Given the description of an element on the screen output the (x, y) to click on. 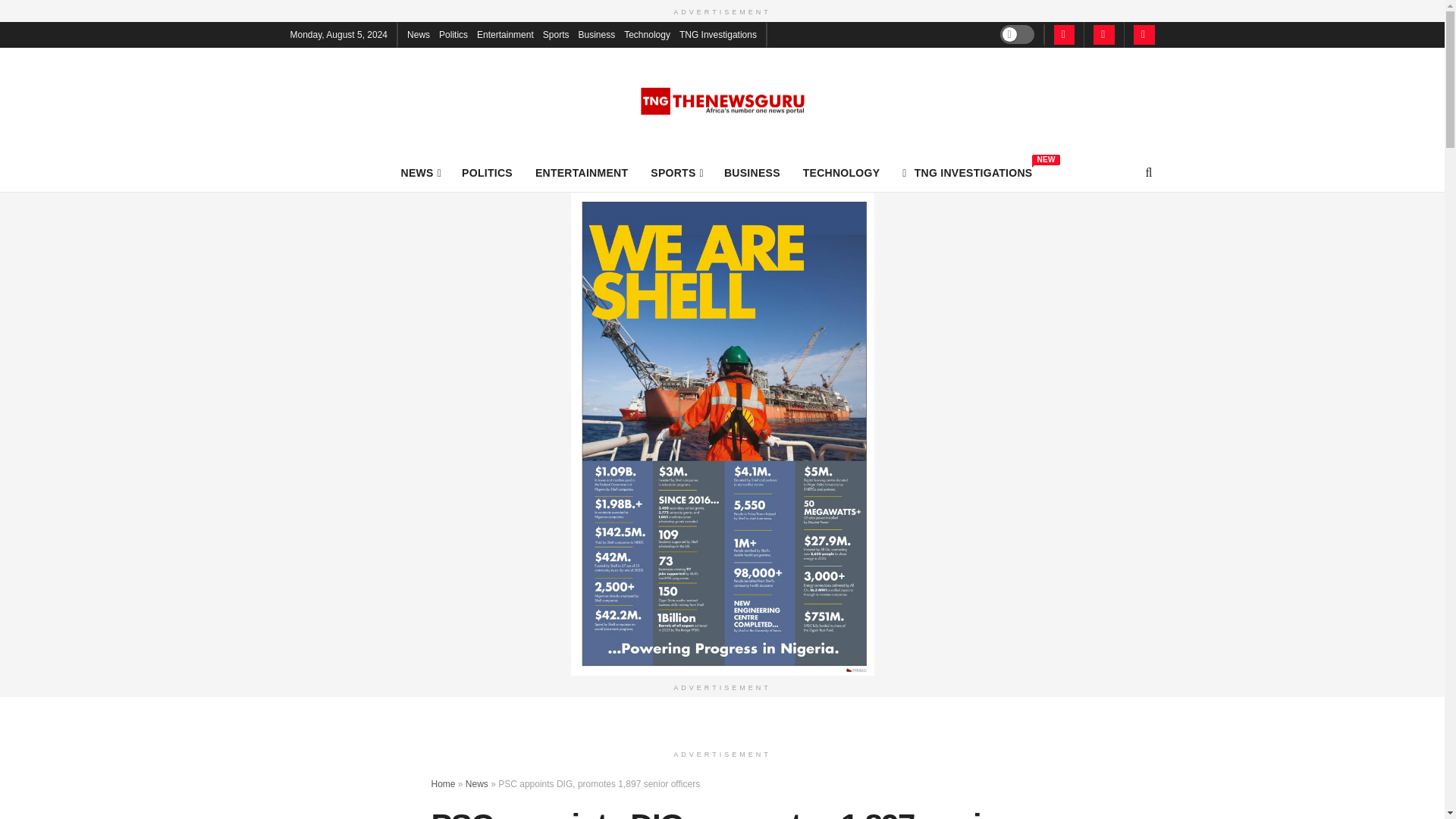
ENTERTAINMENT (581, 172)
BUSINESS (751, 172)
Sports (556, 33)
NEWS (420, 172)
Entertainment (505, 33)
Politics (453, 33)
TNG Investigations (718, 33)
Business (967, 172)
SPORTS (596, 33)
